Given the description of an element on the screen output the (x, y) to click on. 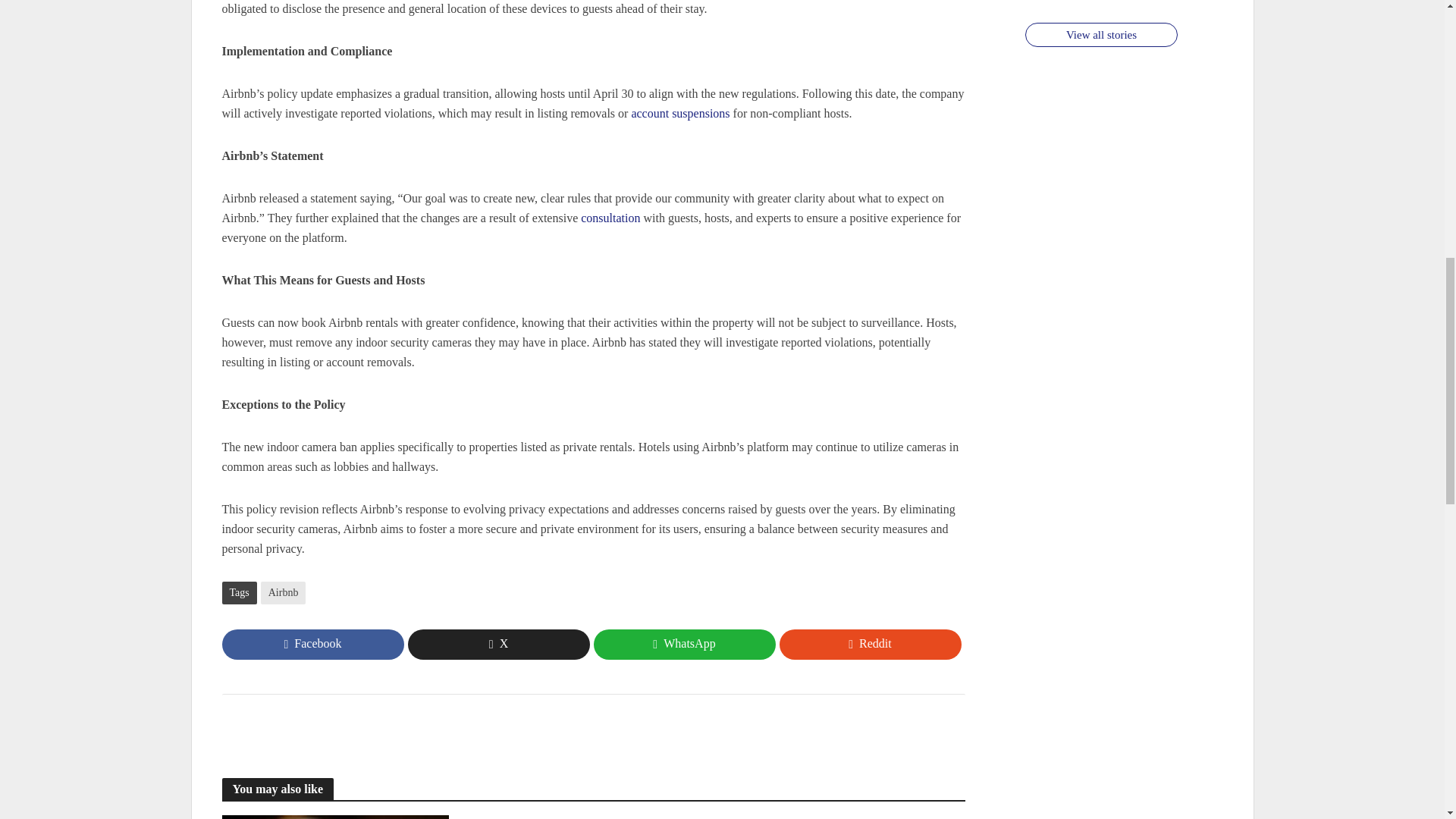
Facebook (312, 644)
X (498, 644)
account suspensions (679, 114)
Reddit (869, 644)
consultation (610, 219)
Airbnb (282, 592)
WhatsApp (683, 644)
